Given the description of an element on the screen output the (x, y) to click on. 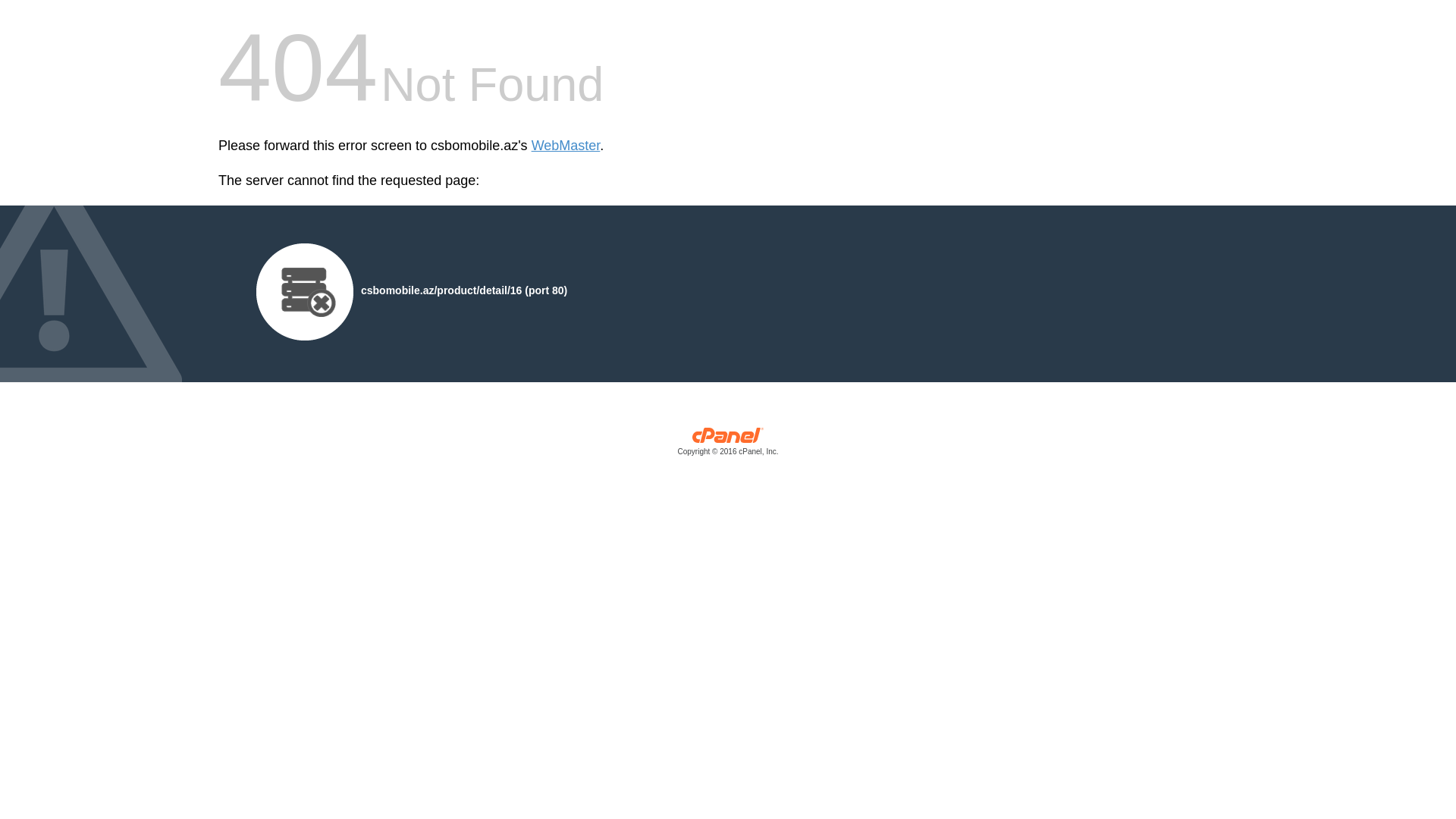
WebMaster Element type: text (565, 145)
